Given the description of an element on the screen output the (x, y) to click on. 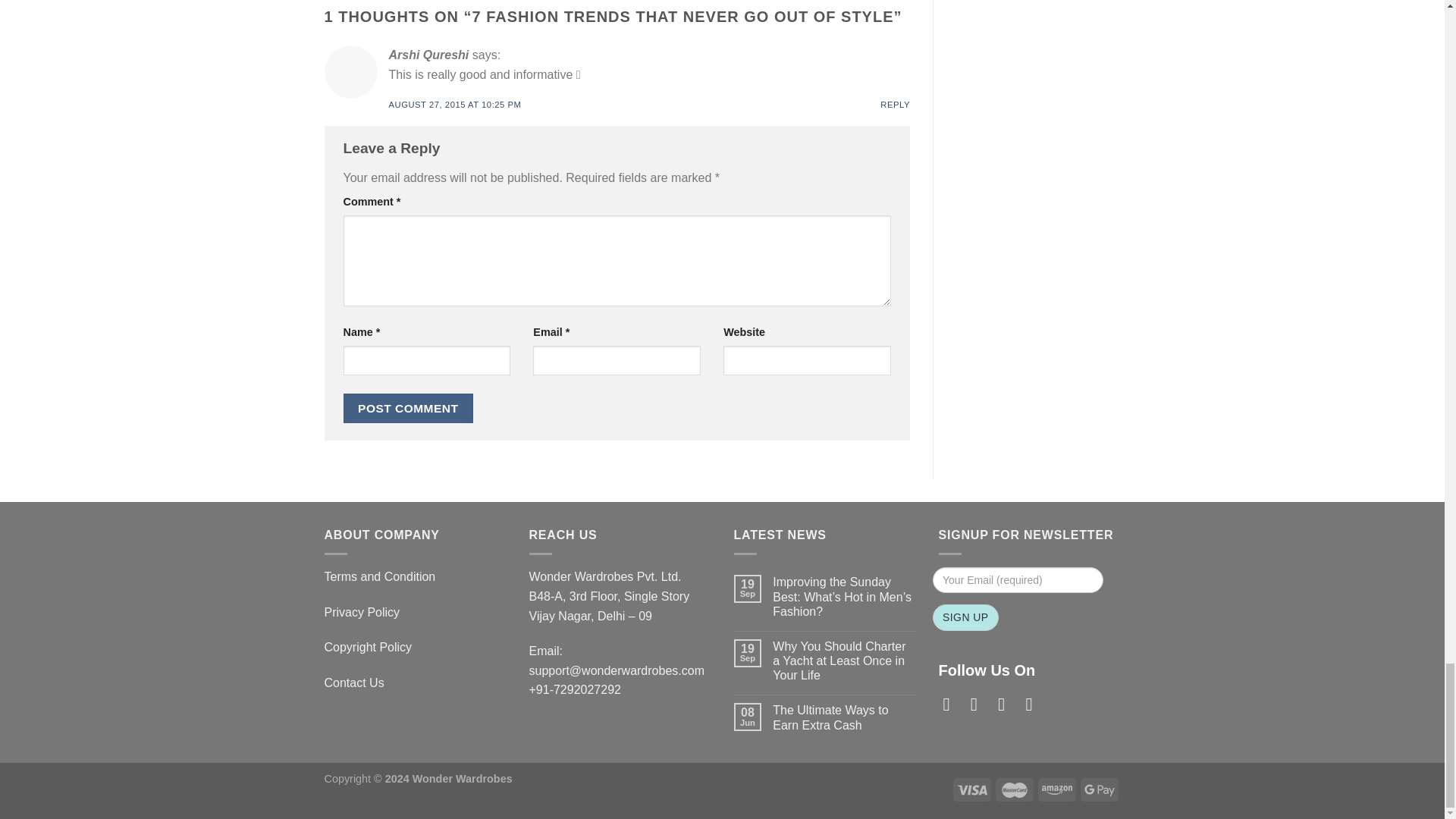
Sign Up (965, 617)
Post Comment (407, 408)
